Given the description of an element on the screen output the (x, y) to click on. 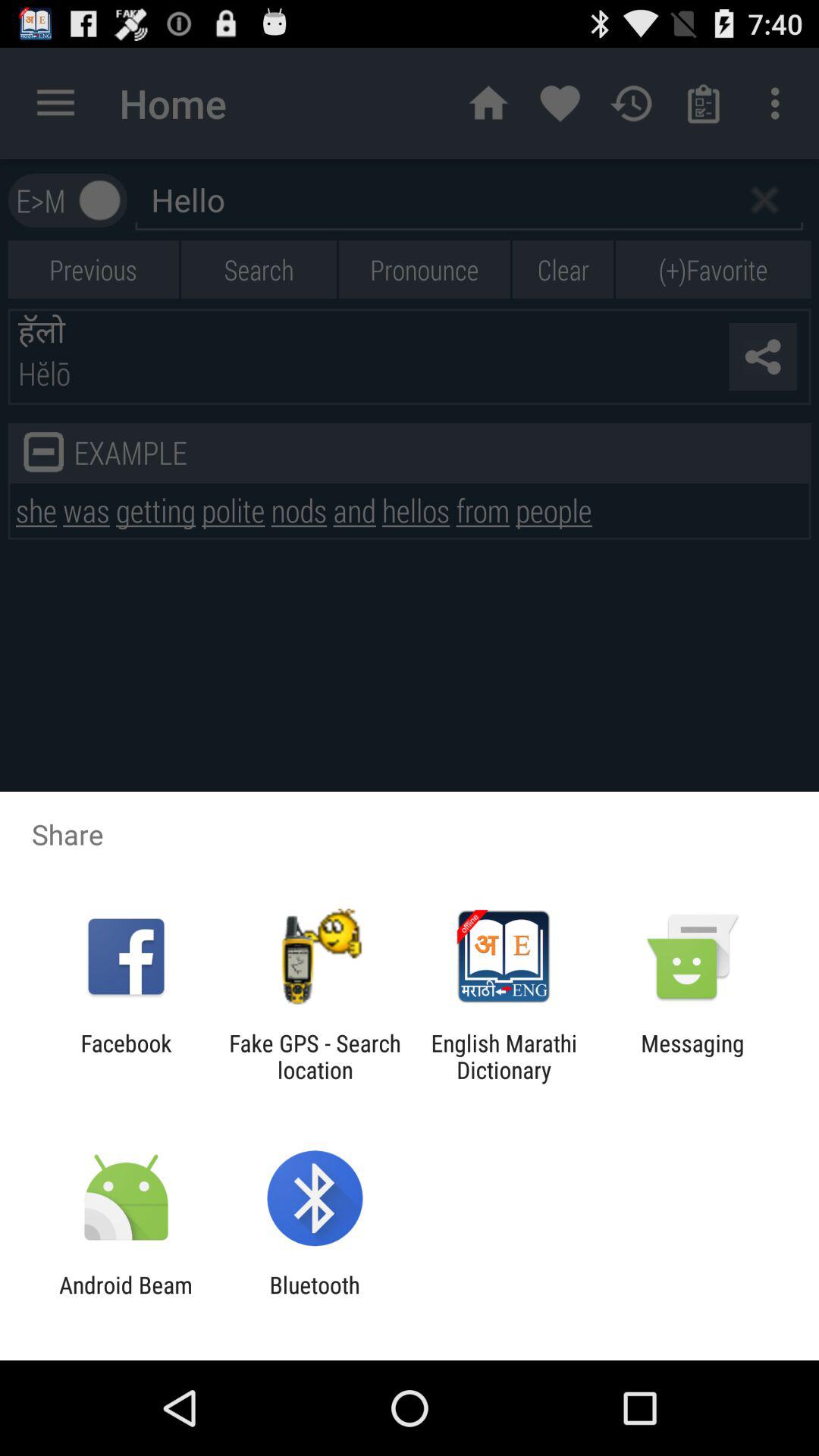
swipe until messaging app (692, 1056)
